Given the description of an element on the screen output the (x, y) to click on. 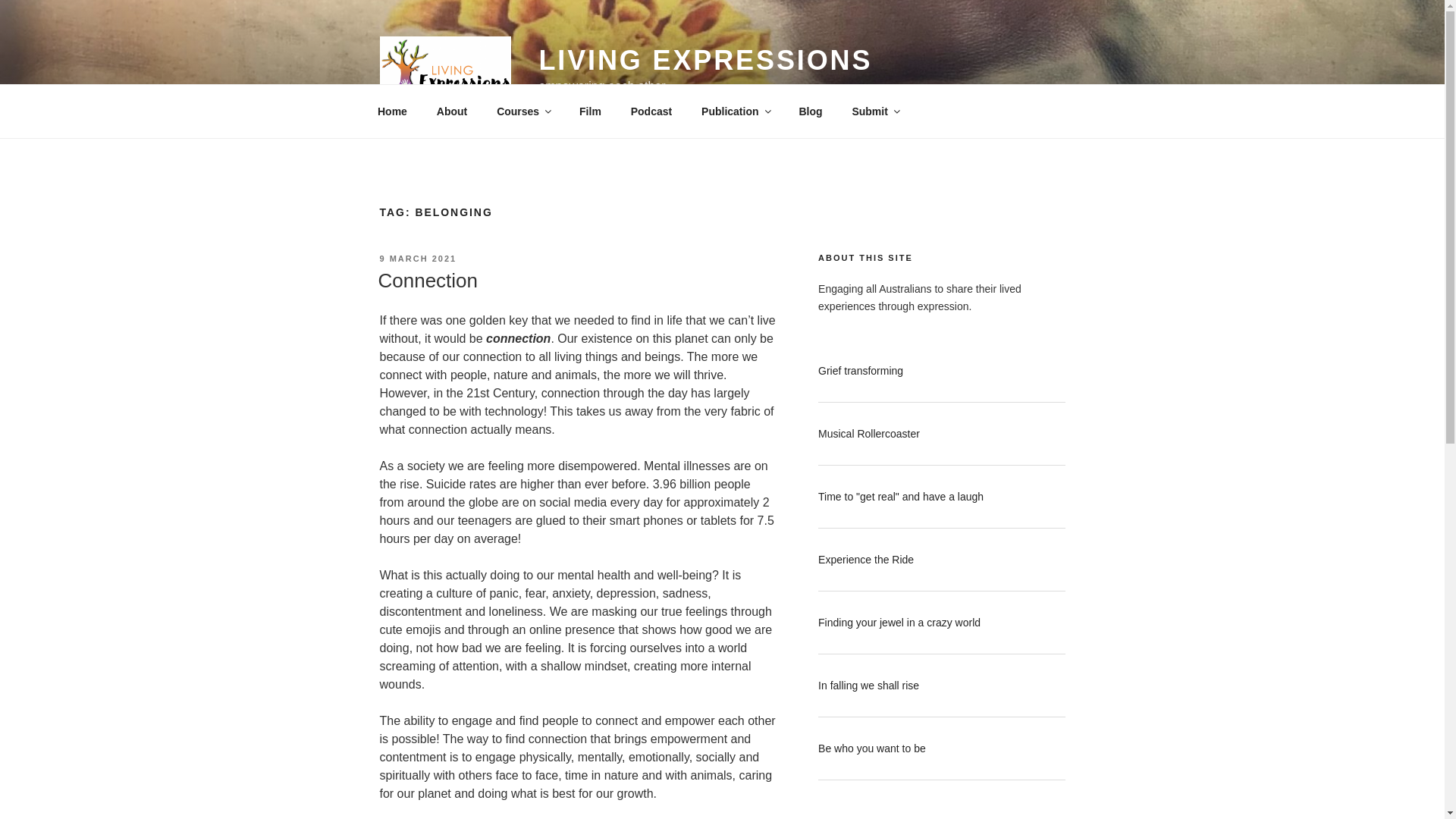
Blog Element type: text (810, 110)
Courses Element type: text (523, 110)
Grief transforming Element type: text (860, 370)
9 MARCH 2021 Element type: text (417, 258)
Submit Element type: text (874, 110)
Publication Element type: text (735, 110)
Finding your jewel in a crazy world Element type: text (899, 622)
LIVING EXPRESSIONS Element type: text (705, 59)
Film Element type: text (590, 110)
Musical Rollercoaster Element type: text (868, 433)
Home Element type: text (392, 110)
Time to "get real" and have a laugh Element type: text (900, 496)
Experience the Ride Element type: text (865, 559)
Connection Element type: text (427, 280)
Be who you want to be Element type: text (871, 748)
In falling we shall rise Element type: text (868, 685)
Podcast Element type: text (650, 110)
About Element type: text (451, 110)
